Given the description of an element on the screen output the (x, y) to click on. 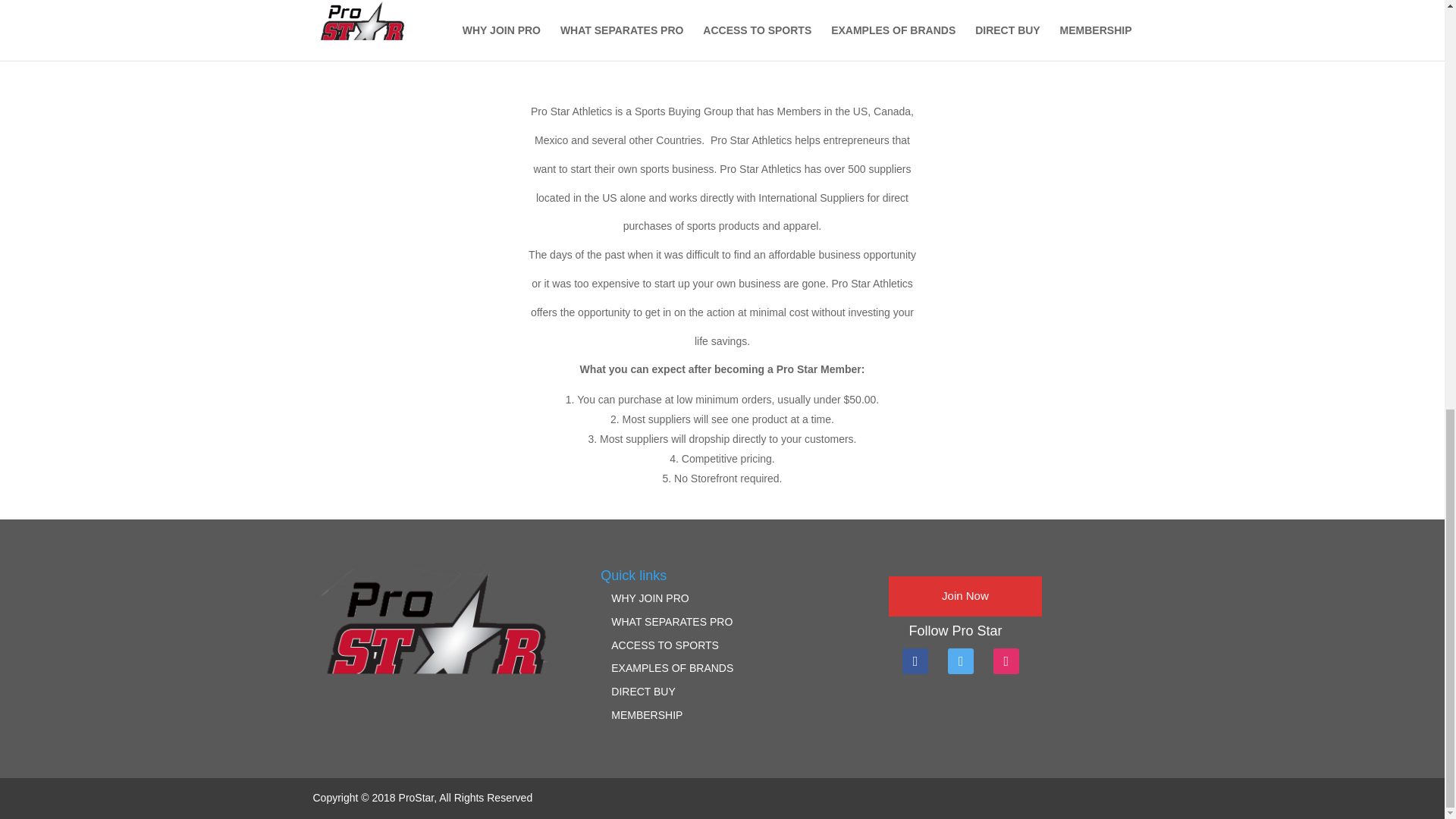
ACCESS TO SPORTS (665, 645)
MEMBERSHIP (646, 715)
EXAMPLES OF BRANDS (672, 667)
DIRECT BUY (643, 691)
instagram (1005, 659)
twitter (960, 659)
WHY JOIN PRO (649, 598)
WHAT SEPARATES PRO (671, 621)
Join Now (965, 596)
facebook (915, 659)
